Given the description of an element on the screen output the (x, y) to click on. 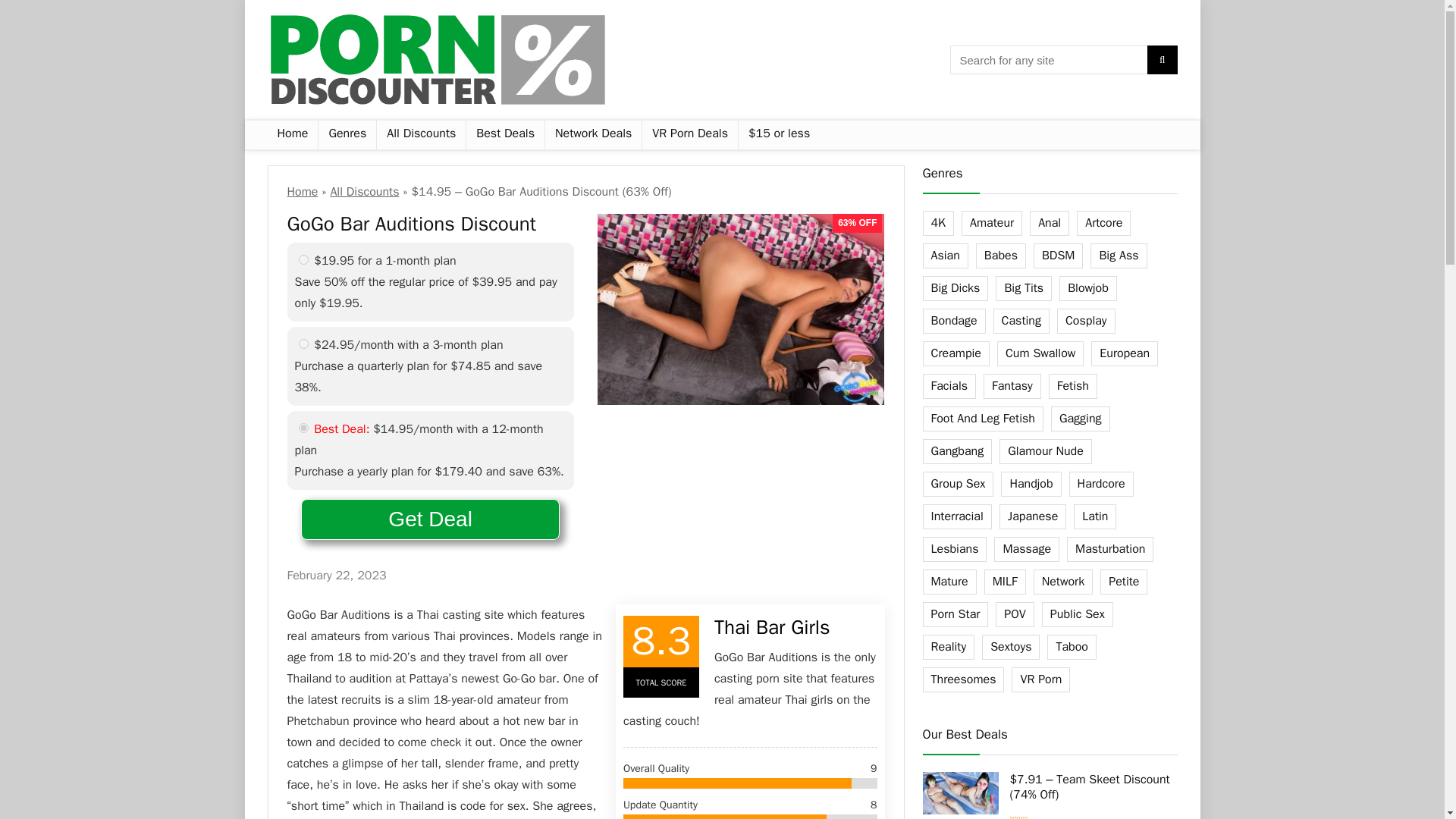
Network Deals (593, 134)
Genres (346, 134)
Cheap Porn (778, 134)
Network Porn Deals (593, 134)
monthly (303, 259)
Home (301, 191)
4K (937, 222)
VR Porn Deals (690, 134)
quarterly (303, 343)
All Discounts (421, 134)
Home (291, 134)
Get Deal (430, 518)
yearly (303, 428)
Best Deals (504, 134)
All Discounts (364, 191)
